Given the description of an element on the screen output the (x, y) to click on. 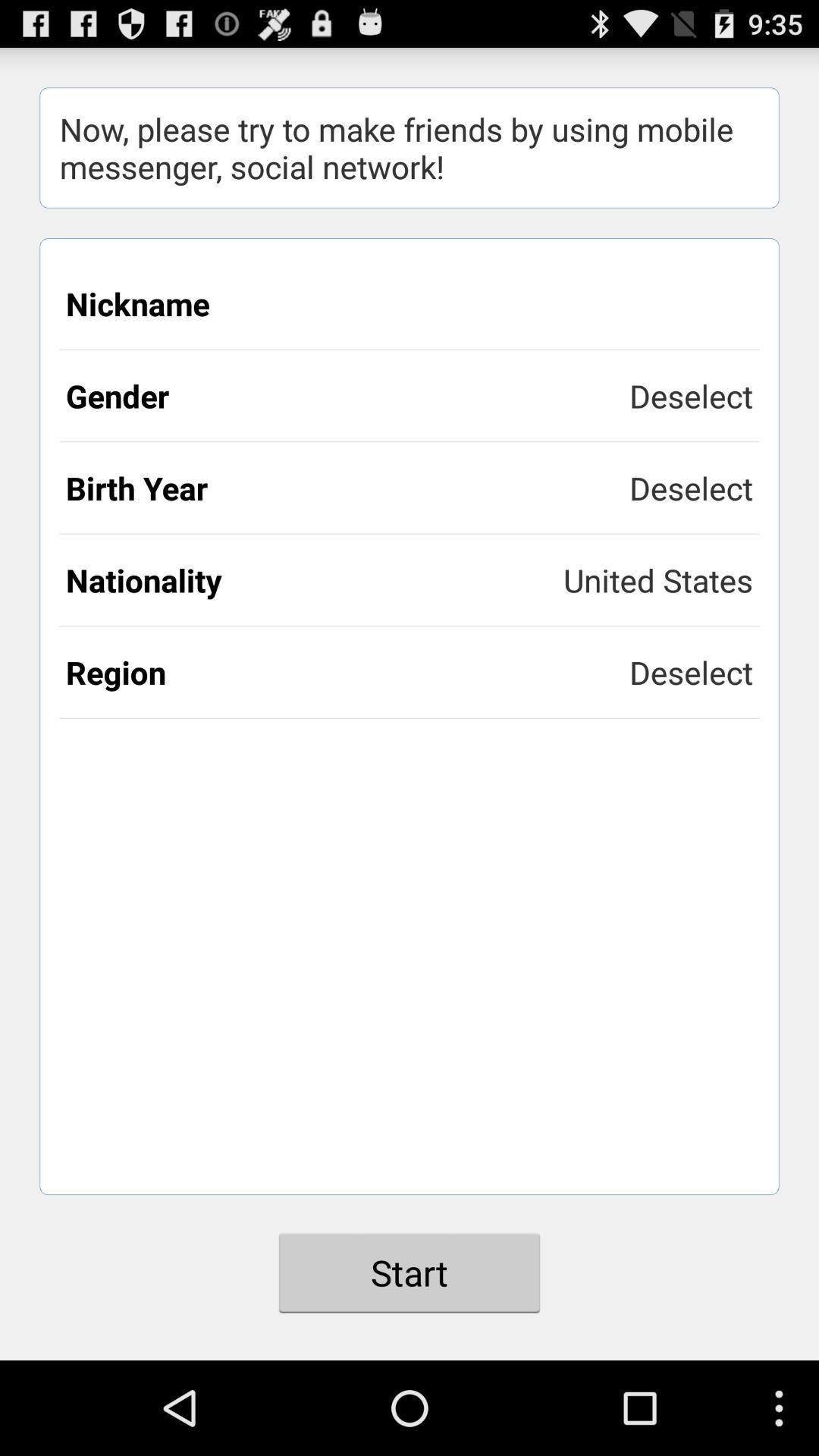
turn on the icon above region (658, 579)
